Given the description of an element on the screen output the (x, y) to click on. 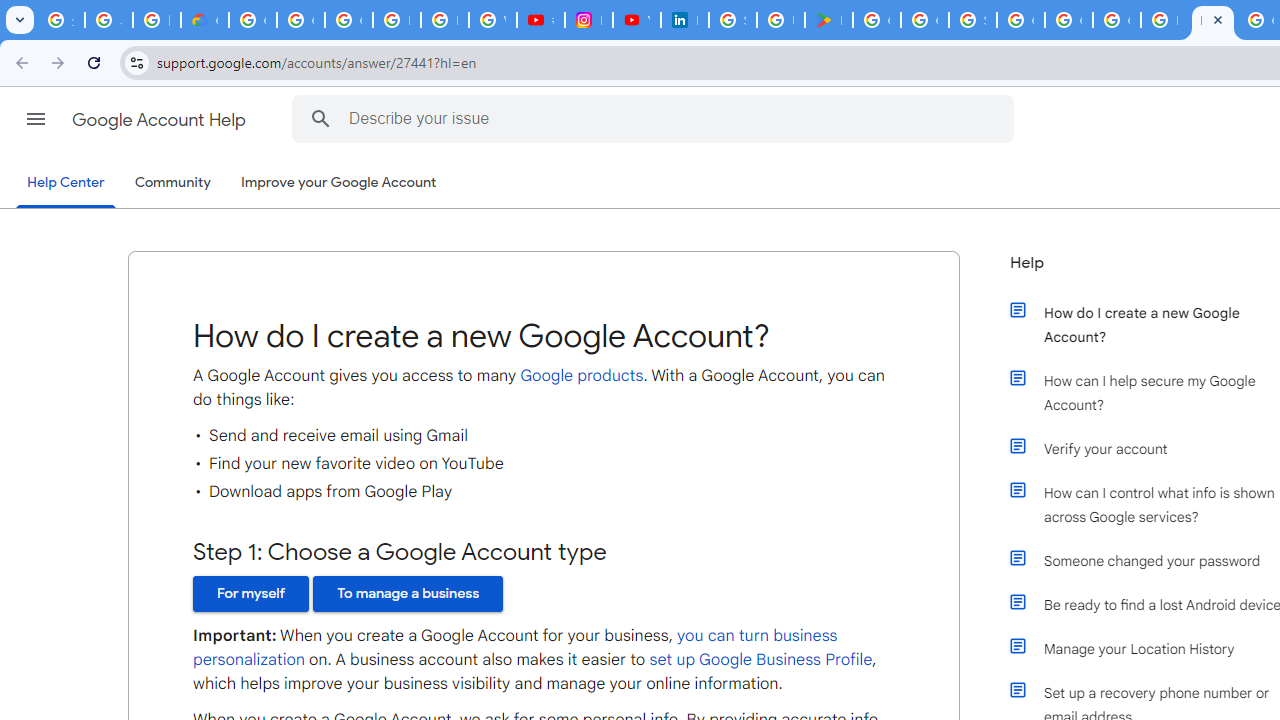
YouTube Culture & Trends - On The Rise: Handcam Videos (636, 20)
Search Help Center (320, 118)
Google Workspace - Specific Terms (924, 20)
you can turn business personalization (515, 647)
#nbabasketballhighlights - YouTube (540, 20)
How do I create a new Google Account? - Google Account Help (1164, 20)
